Given the description of an element on the screen output the (x, y) to click on. 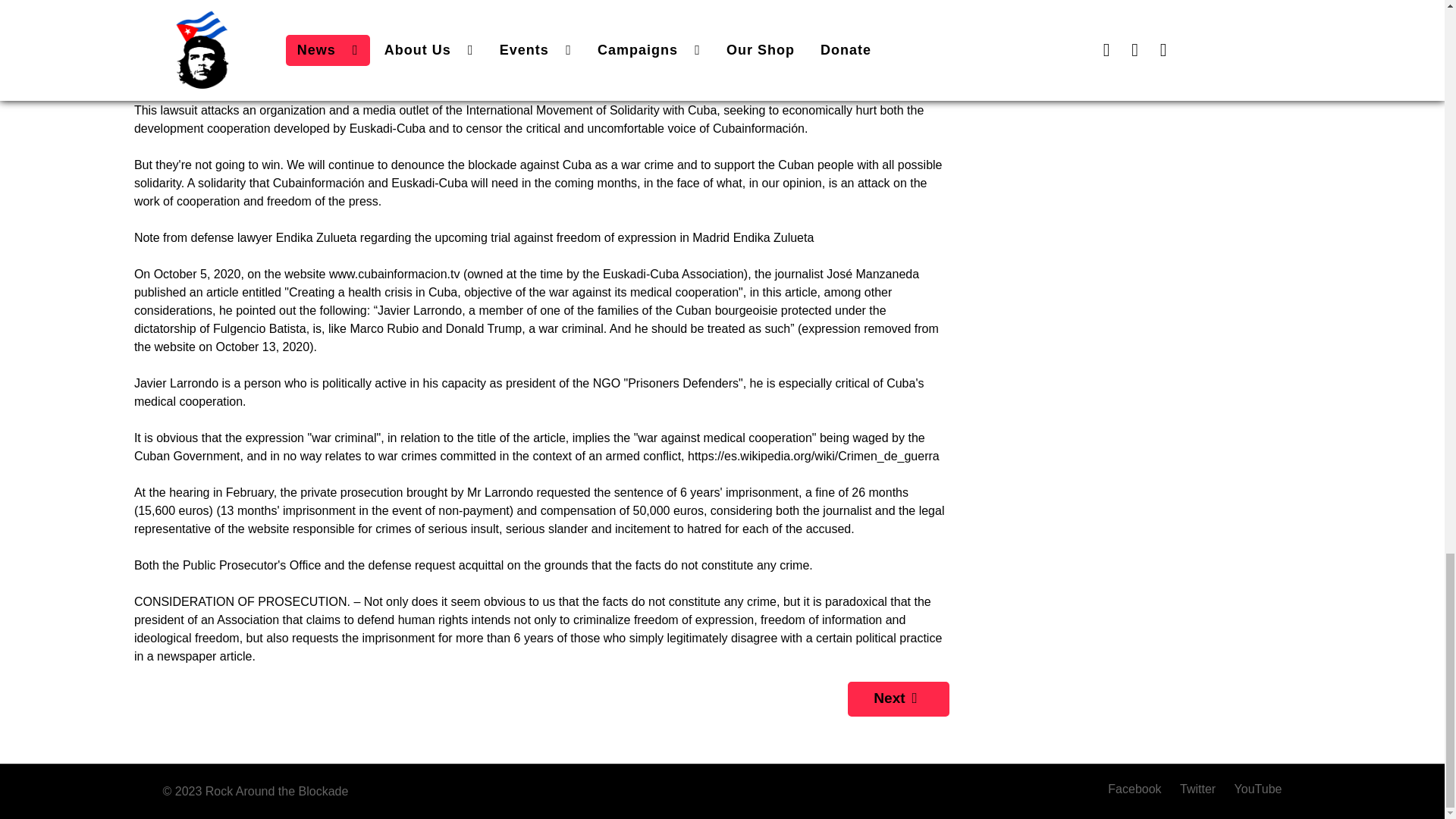
Twitter (1199, 788)
'End Sanctions on Cuba and Venezuela' event at Bolivar Hall  (898, 698)
Facebook (1140, 788)
YouTube (1254, 788)
